Given the description of an element on the screen output the (x, y) to click on. 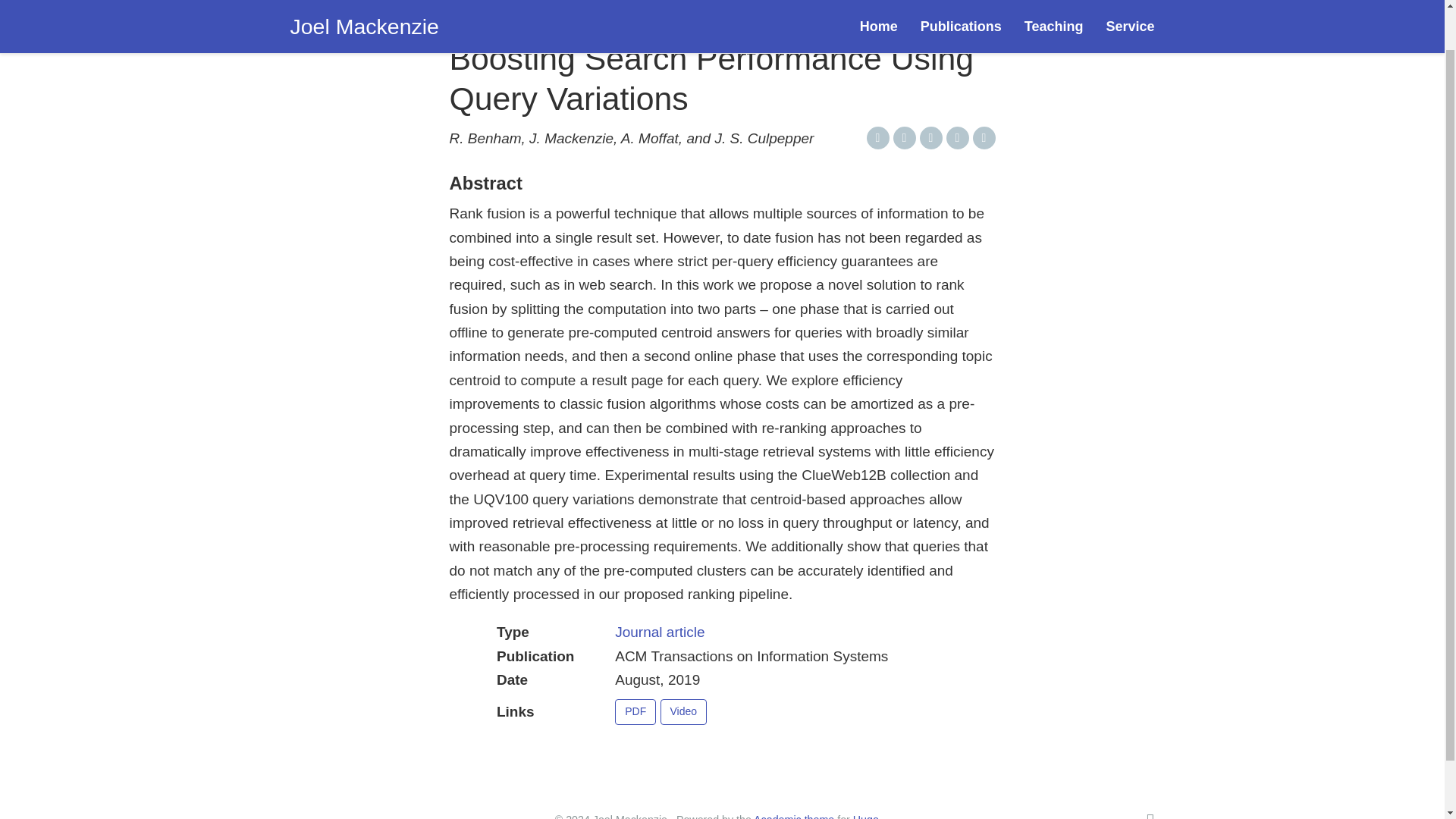
Journal article (659, 631)
Service (1130, 4)
Publications (960, 4)
Video (682, 711)
Joel Mackenzie (364, 4)
Home (878, 4)
PDF (635, 711)
Teaching (1053, 4)
